Given the description of an element on the screen output the (x, y) to click on. 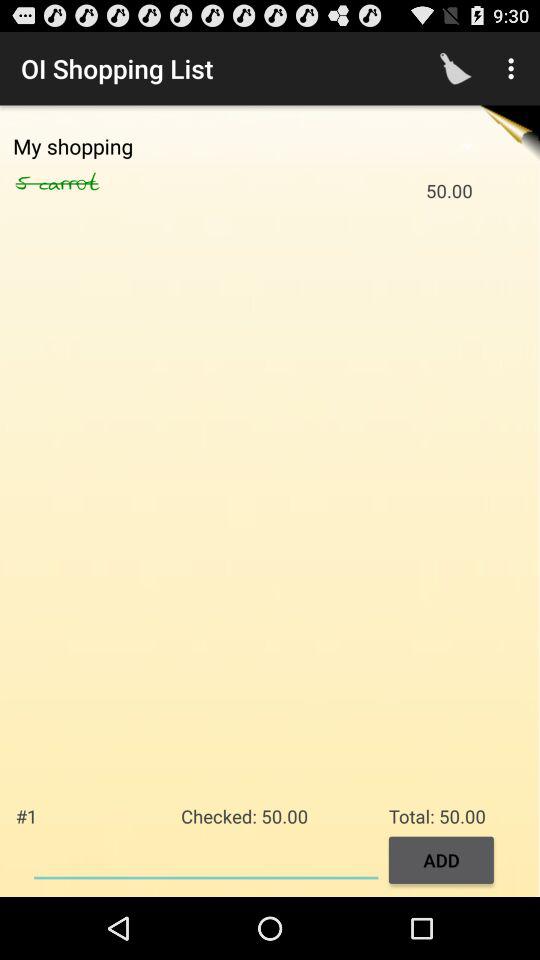
press item below the my shopping app (90, 183)
